Given the description of an element on the screen output the (x, y) to click on. 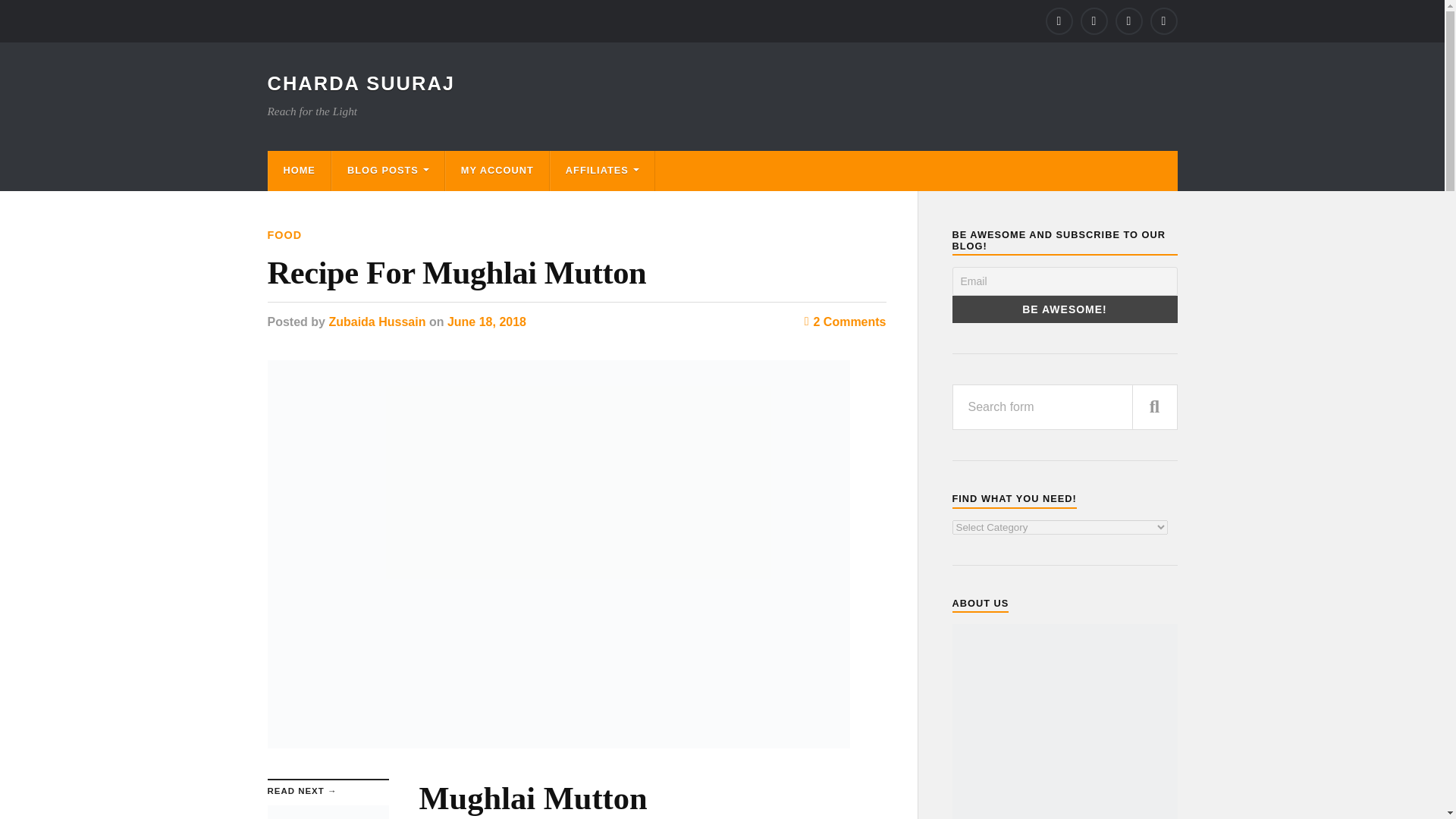
Be Awesome! (1064, 308)
BLOG POSTS (387, 170)
AFFILIATES (601, 170)
MY ACCOUNT (496, 170)
HOME (298, 170)
CHARDA SUURAJ (360, 83)
